Given the description of an element on the screen output the (x, y) to click on. 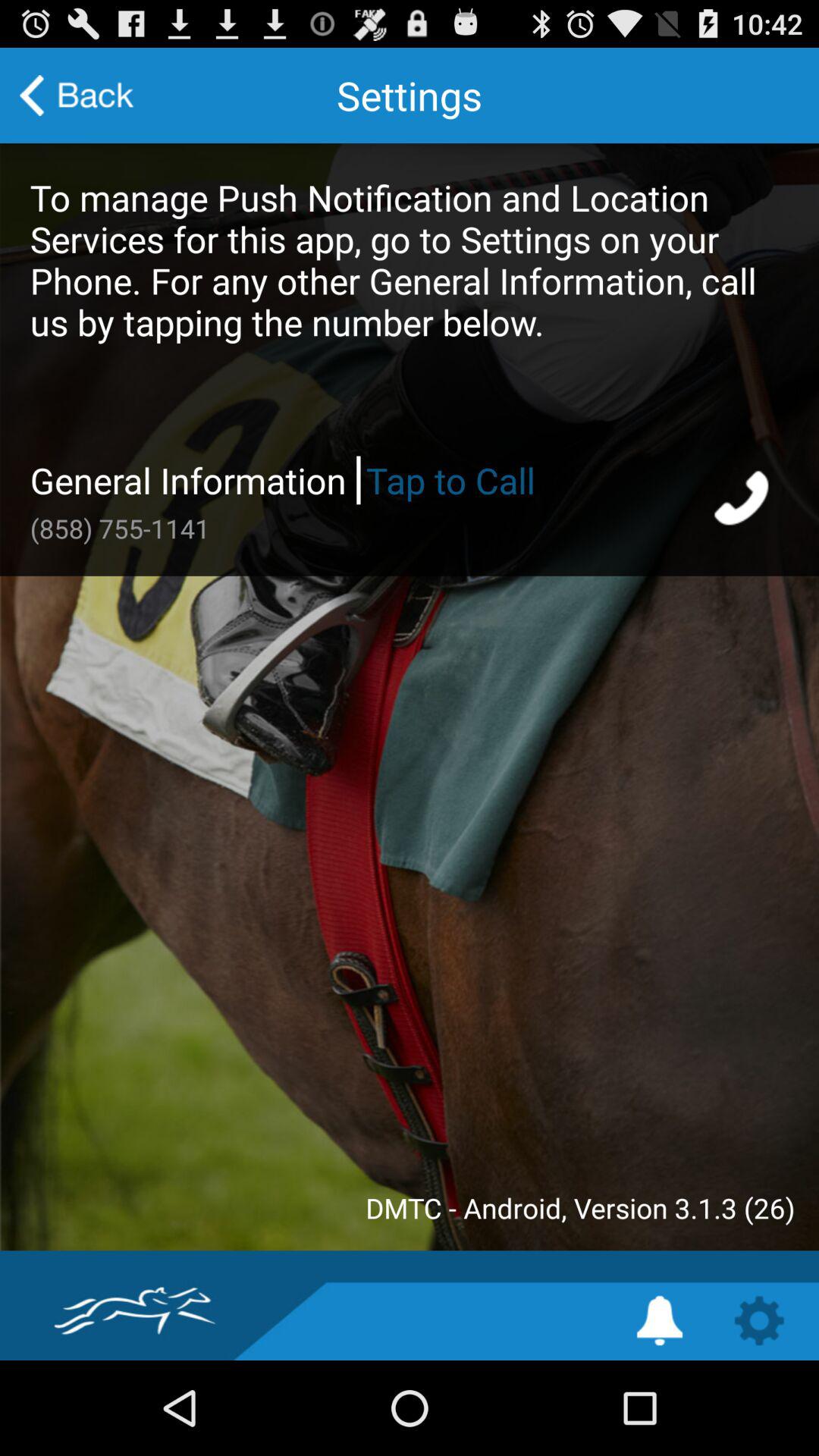
tap to call (743, 501)
